Given the description of an element on the screen output the (x, y) to click on. 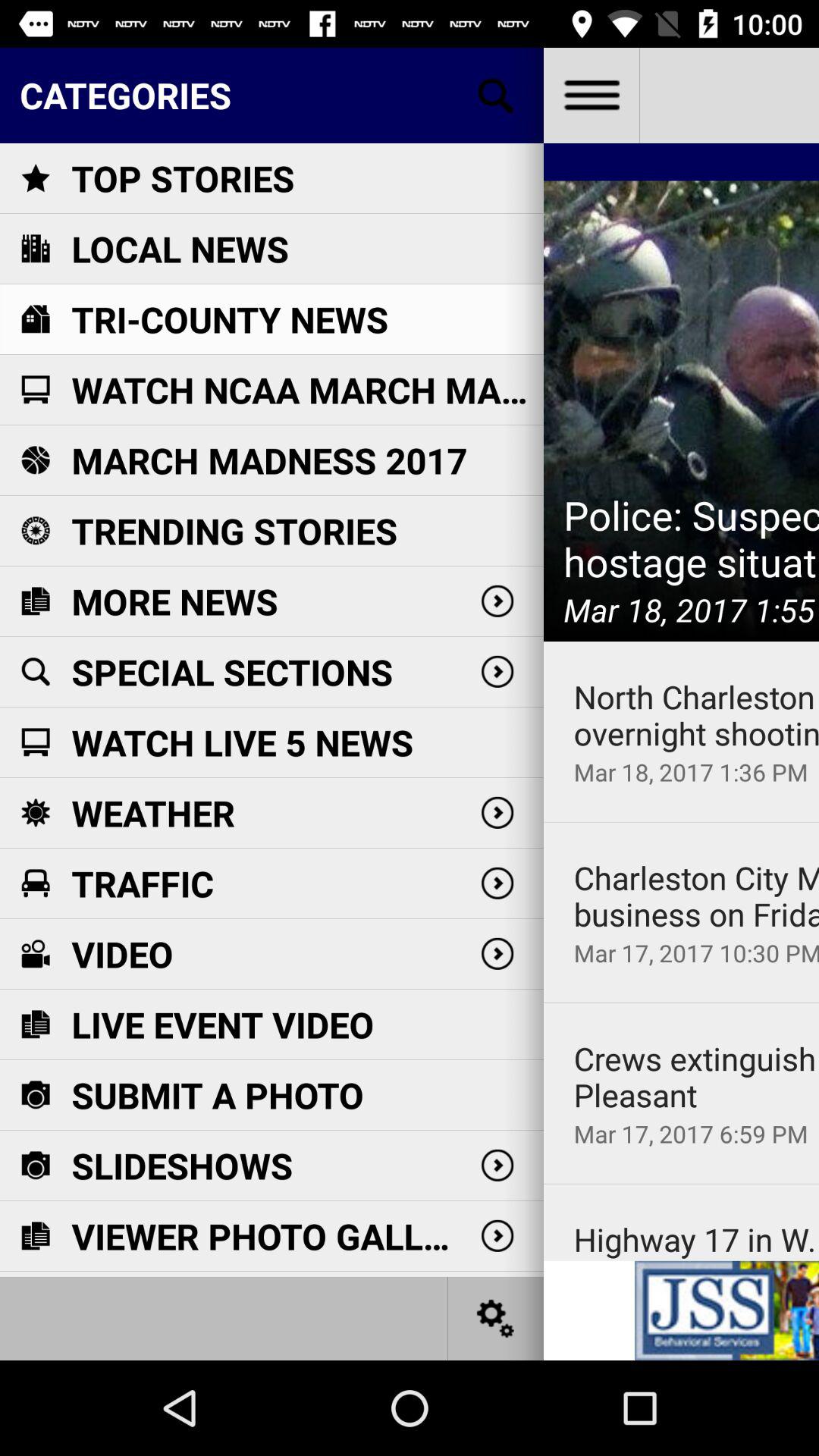
flip until the watch ncaa march item (307, 389)
